Given the description of an element on the screen output the (x, y) to click on. 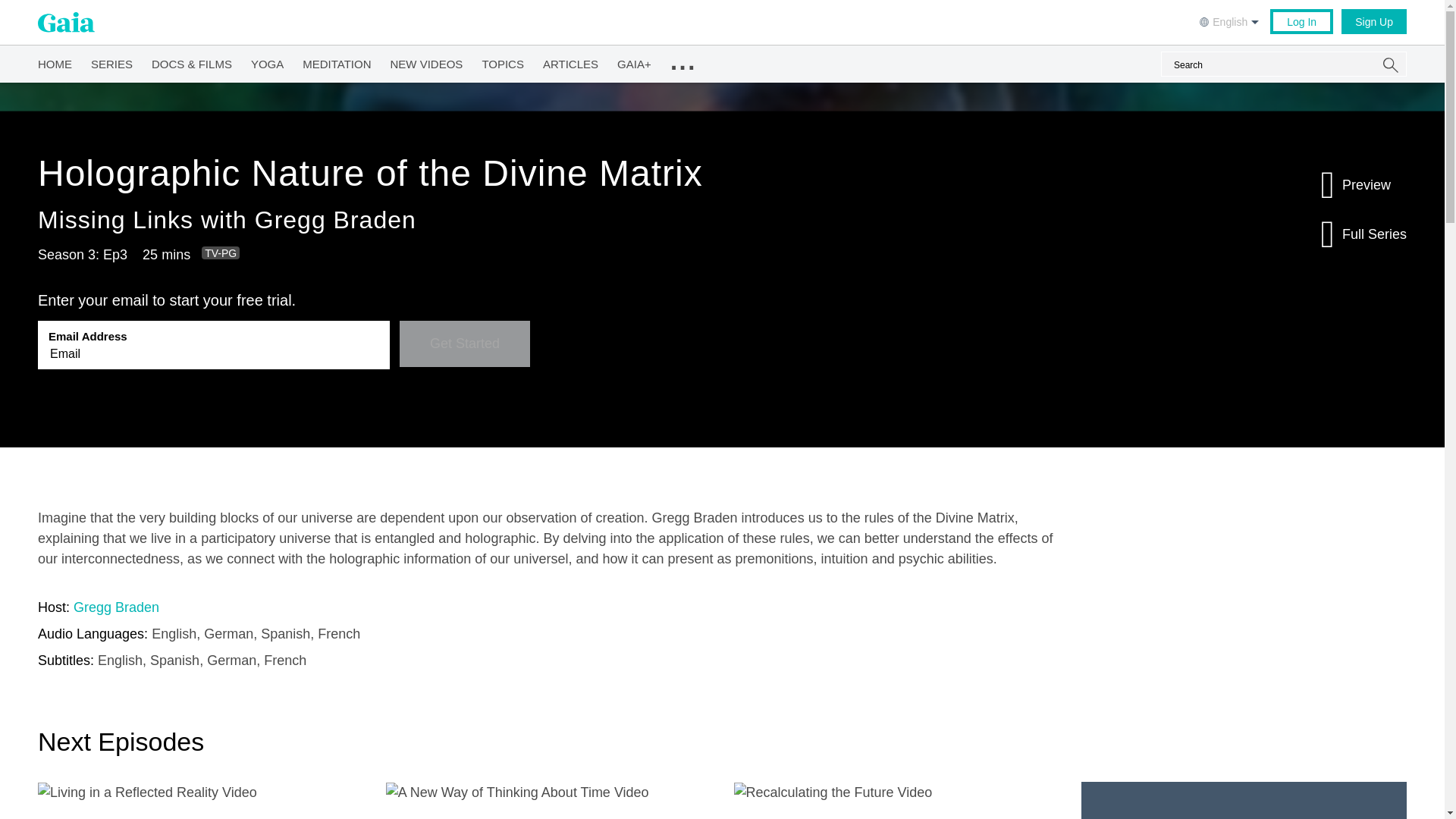
NEW VIDEOS (426, 61)
HOME (54, 61)
Sign Up (1373, 21)
MEDITATION (336, 61)
English (1230, 20)
ARTICLES (570, 61)
SERIES (111, 61)
YOGA (266, 61)
Log In (1301, 21)
TOPICS (502, 61)
